Given the description of an element on the screen output the (x, y) to click on. 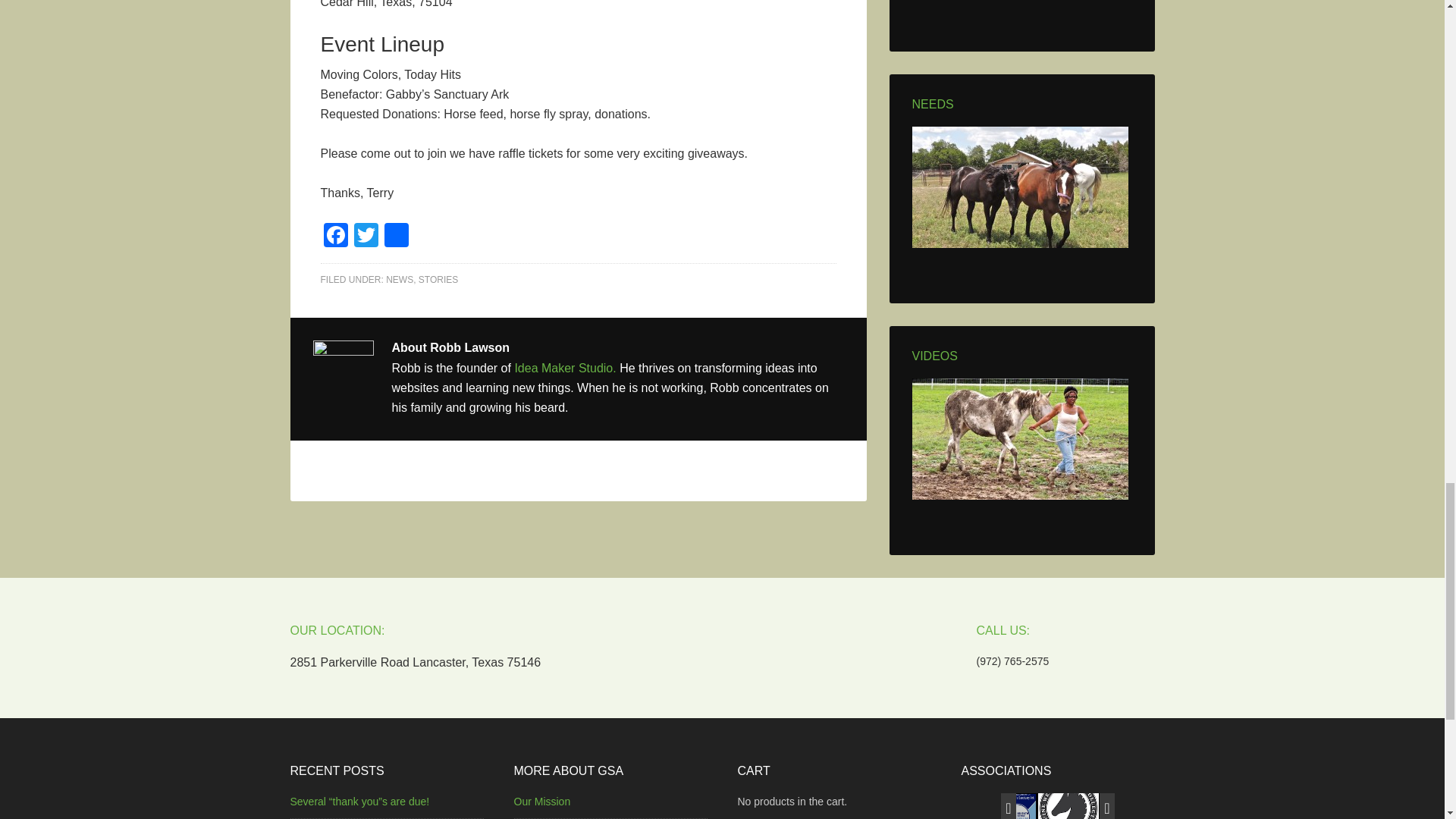
Twitter (365, 236)
Facebook (335, 236)
Twitter (365, 236)
Our Mission (541, 801)
NEWS (399, 279)
Facebook (335, 236)
EquineWelfareDataCollective-Dark-150 (1068, 798)
STORIES (438, 279)
Seventh Sense Consulting (1006, 799)
Idea Maker Studio. (566, 367)
